Given the description of an element on the screen output the (x, y) to click on. 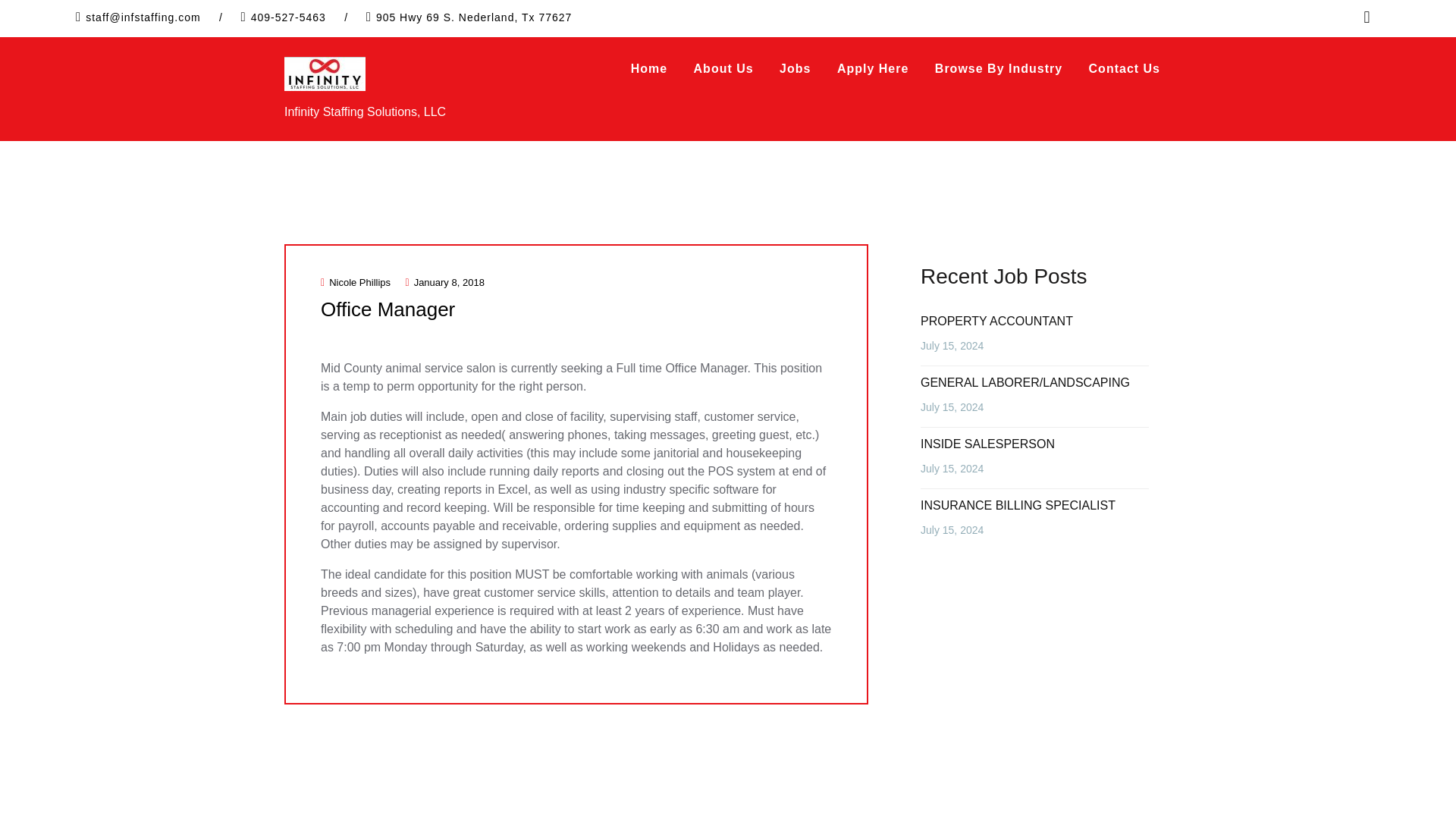
409-527-5463 (288, 17)
Home (649, 68)
INSURANCE BILLING SPECIALIST (1017, 504)
PROPERTY ACCOUNTANT (996, 320)
Office Manager (387, 309)
Contact Us (1124, 68)
905 Hwy 69 S. Nederland, Tx 77627 (473, 17)
INSIDE SALESPERSON (987, 443)
About Us (723, 68)
January 8, 2018 (443, 282)
Apply Here (872, 68)
Nicole Phillips (355, 282)
Browse By Industry (998, 68)
Jobs (795, 68)
